Given the description of an element on the screen output the (x, y) to click on. 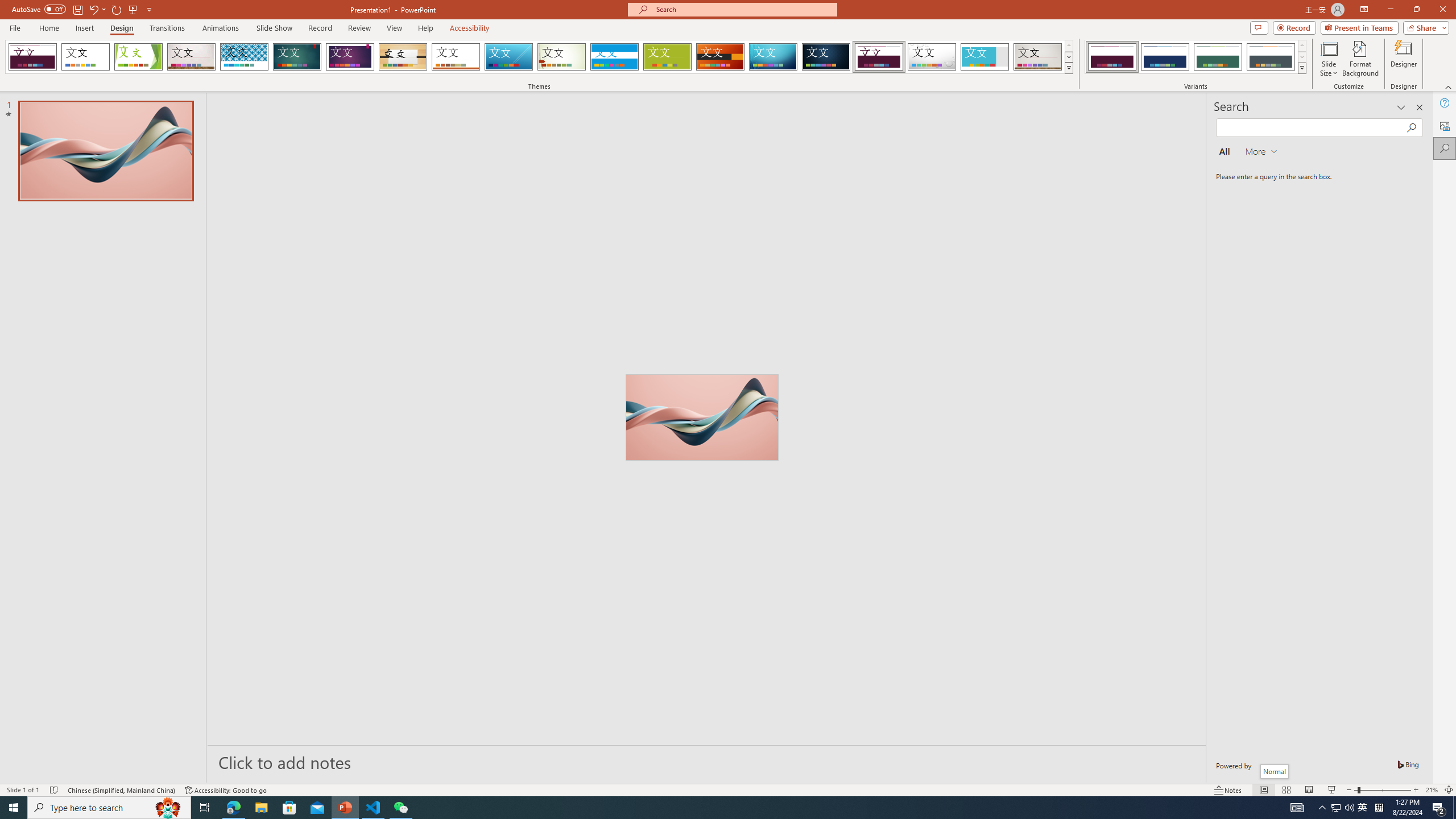
Dividend Variant 3 (1217, 56)
Basis (667, 56)
